Given the description of an element on the screen output the (x, y) to click on. 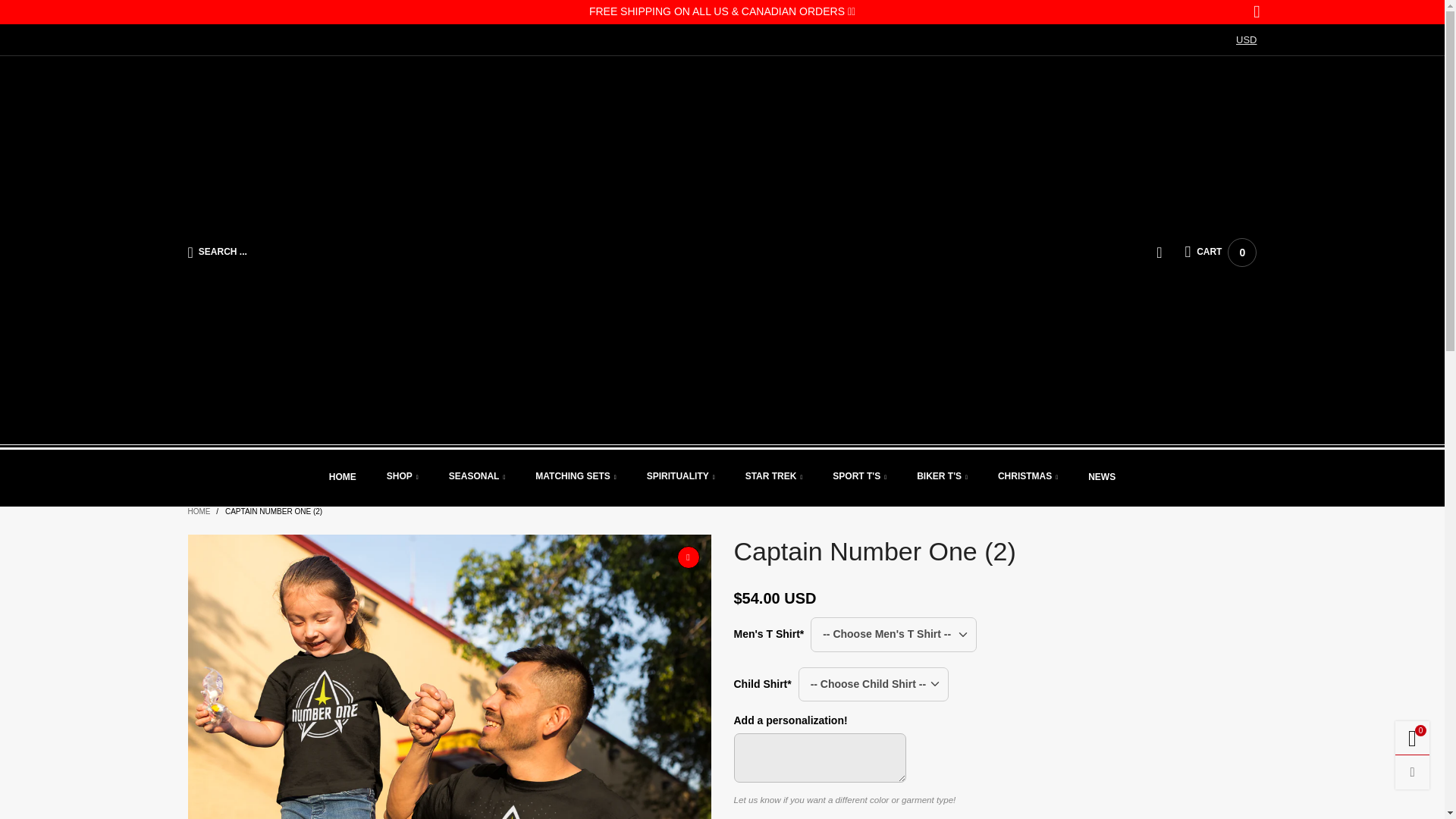
Sign In (1120, 422)
SEARCH ... (358, 252)
Login (1170, 252)
SHOP (403, 477)
close promotion (1256, 12)
HOME (342, 477)
MATCHING SETS (575, 477)
Seasonal (476, 477)
Search ... (358, 252)
Home (1220, 252)
Currency (342, 477)
SPIRITUALITY (1245, 40)
Shop (680, 477)
SEASONAL (403, 477)
